Given the description of an element on the screen output the (x, y) to click on. 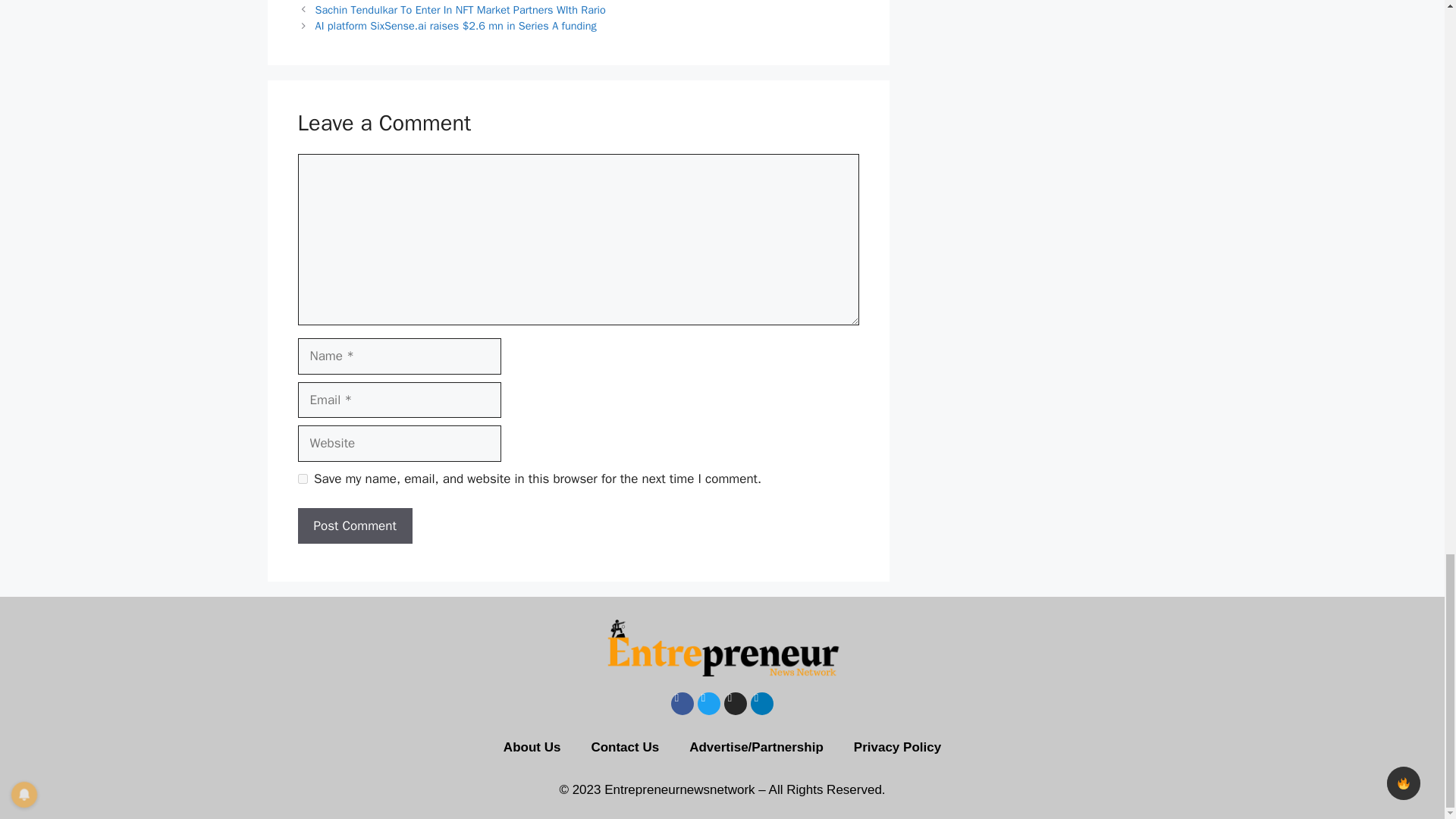
Post Comment (354, 525)
yes (302, 479)
